Given the description of an element on the screen output the (x, y) to click on. 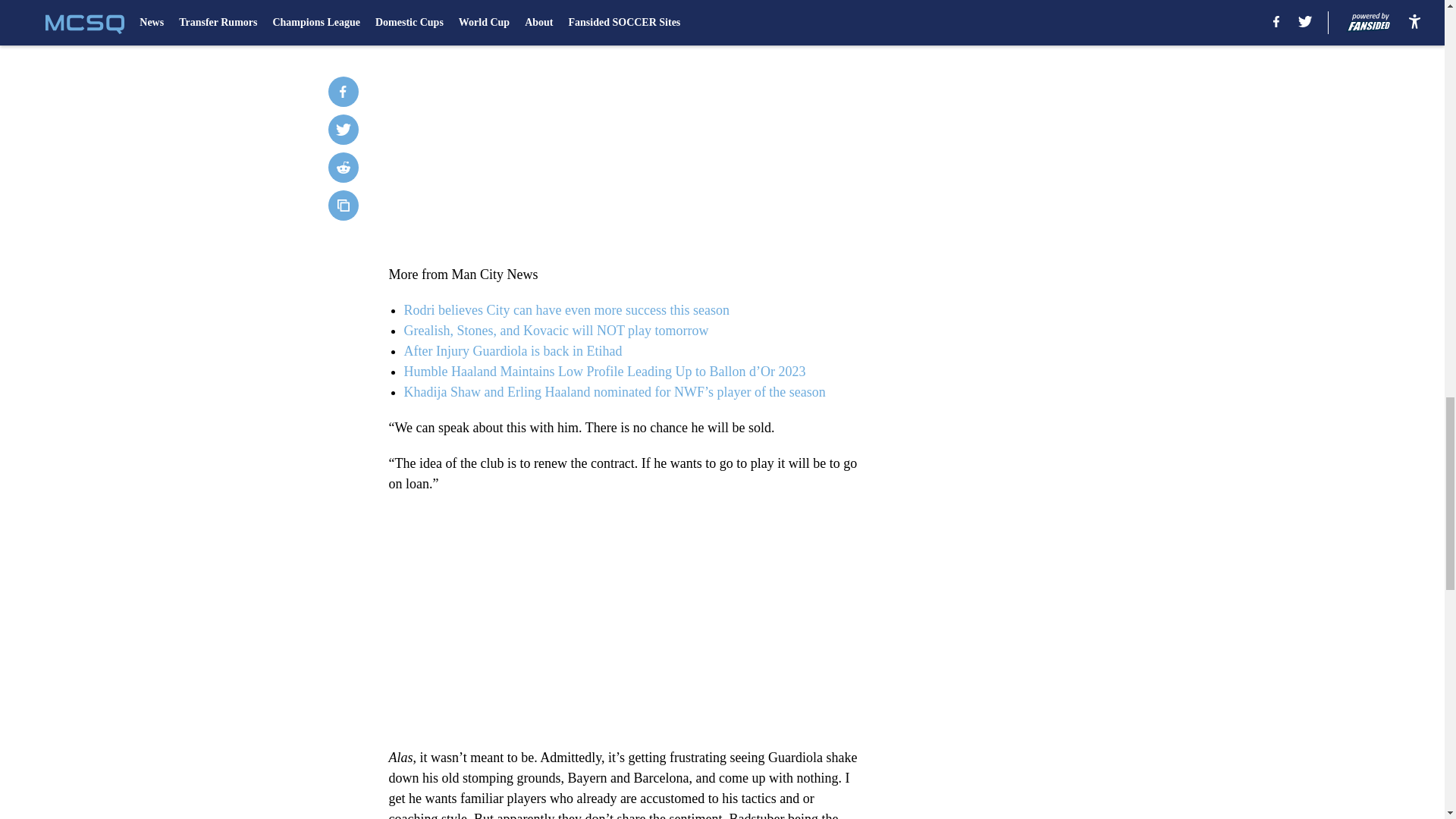
After Injury Guardiola is back in Etihad (512, 350)
Grealish, Stones, and Kovacic will NOT play tomorrow (555, 330)
Rodri believes City can have even more success this season (566, 309)
